Given the description of an element on the screen output the (x, y) to click on. 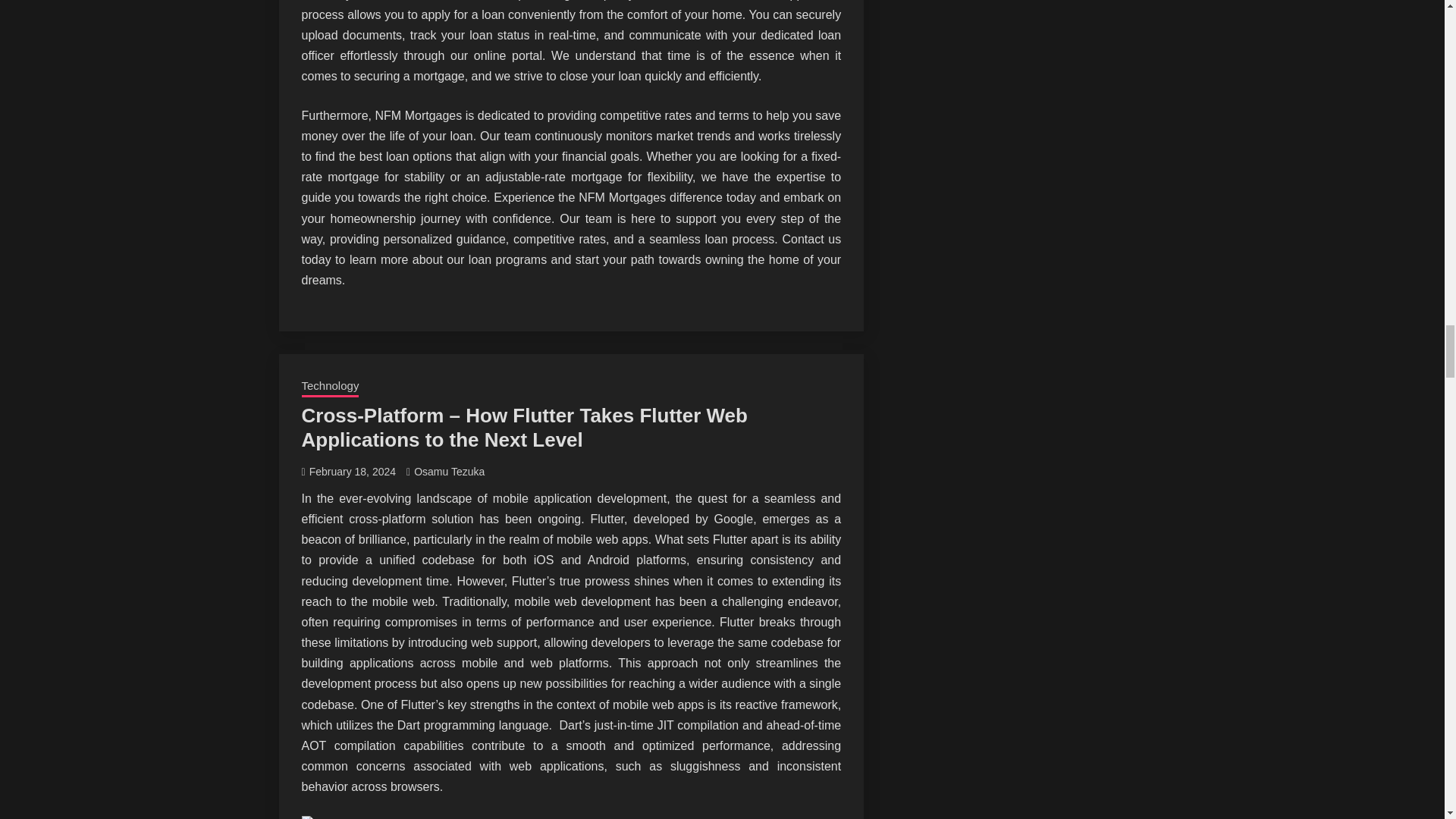
Osamu Tezuka (448, 471)
Technology (330, 387)
February 18, 2024 (352, 471)
